Given the description of an element on the screen output the (x, y) to click on. 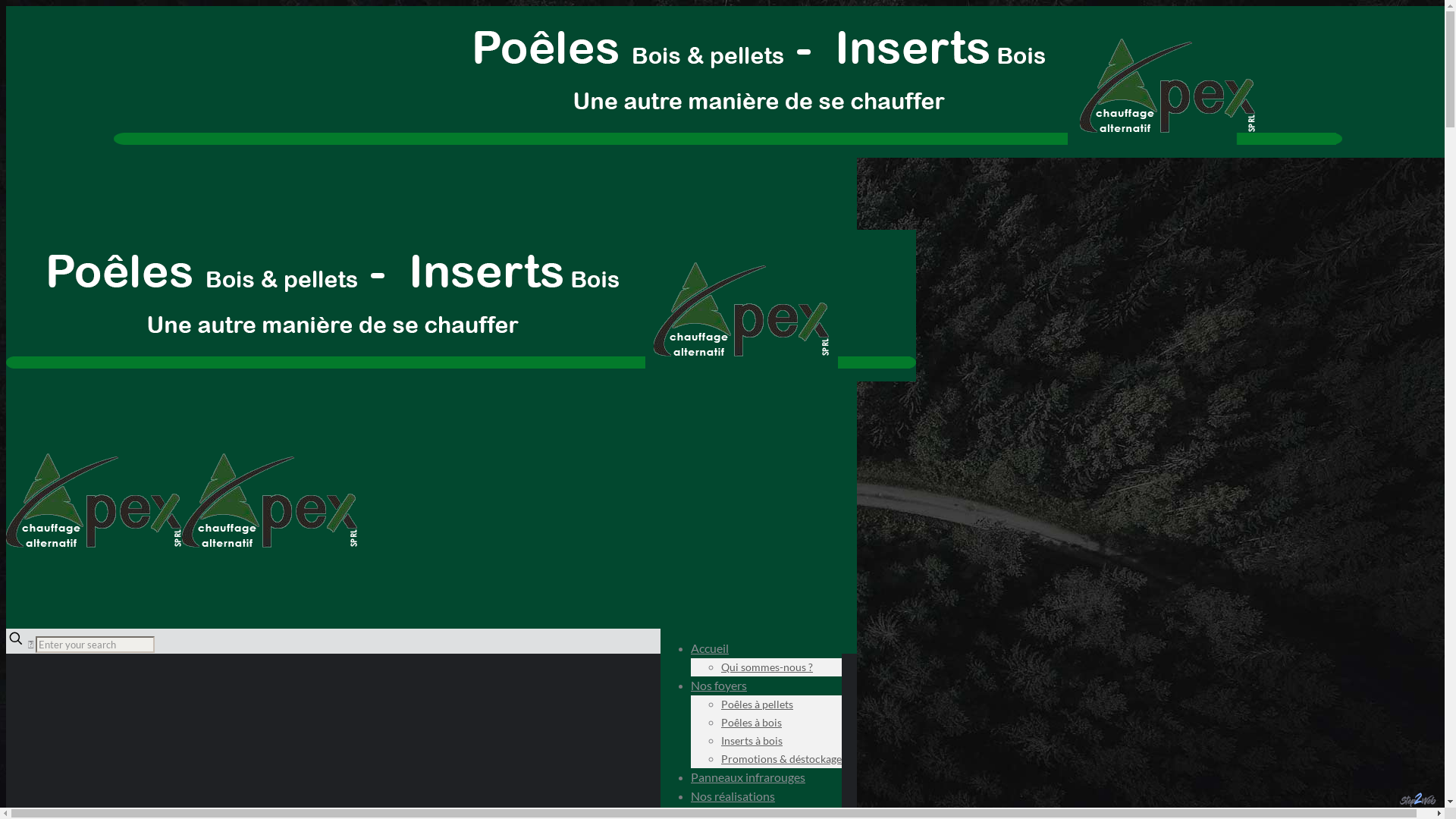
Nos foyers Element type: text (718, 684)
Accueil Element type: text (709, 647)
Qui sommes-nous ? Element type: text (766, 666)
